Given the description of an element on the screen output the (x, y) to click on. 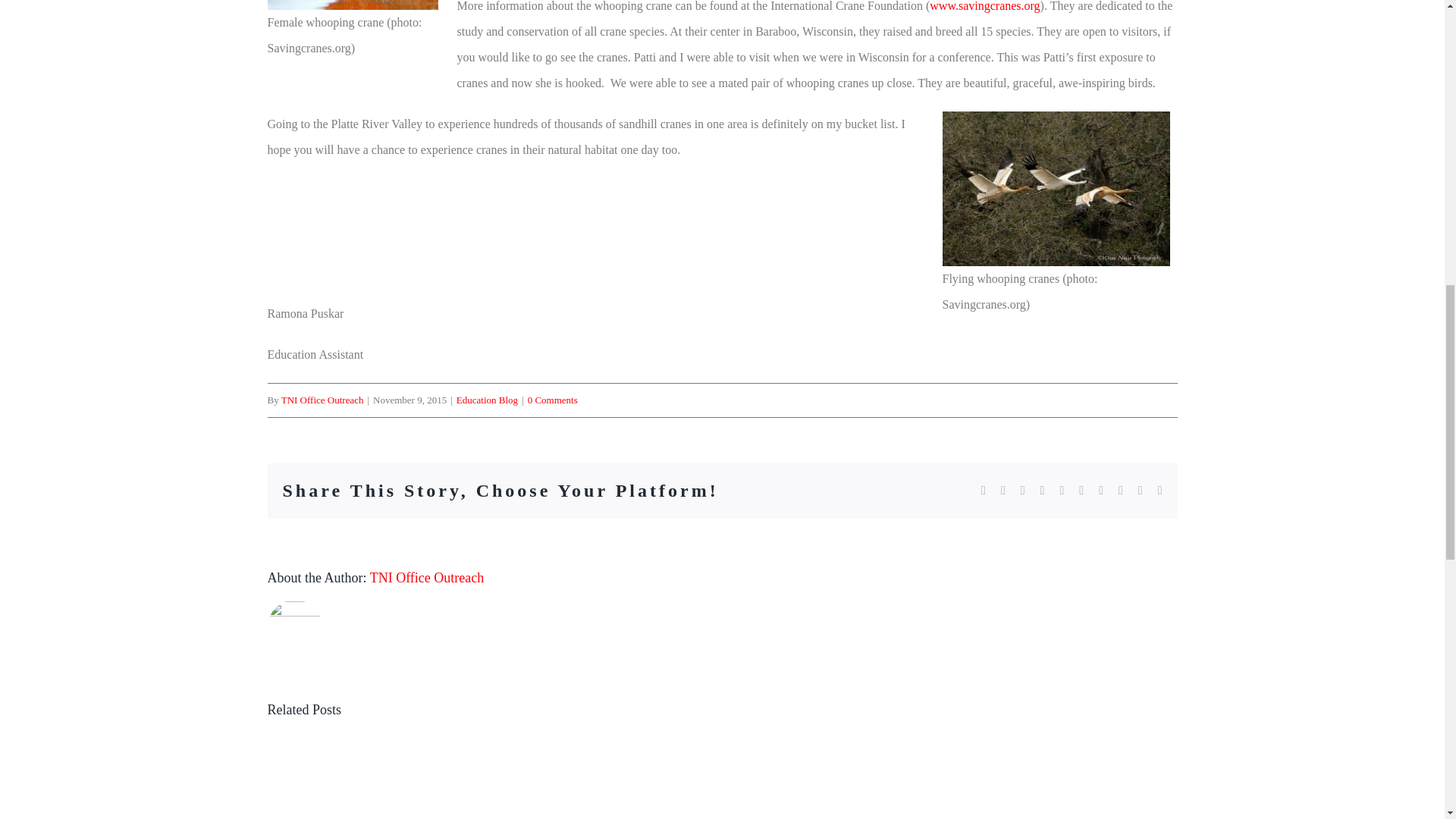
Posts by TNI Office Outreach (426, 577)
Posts by TNI Office Outreach (322, 399)
